Given the description of an element on the screen output the (x, y) to click on. 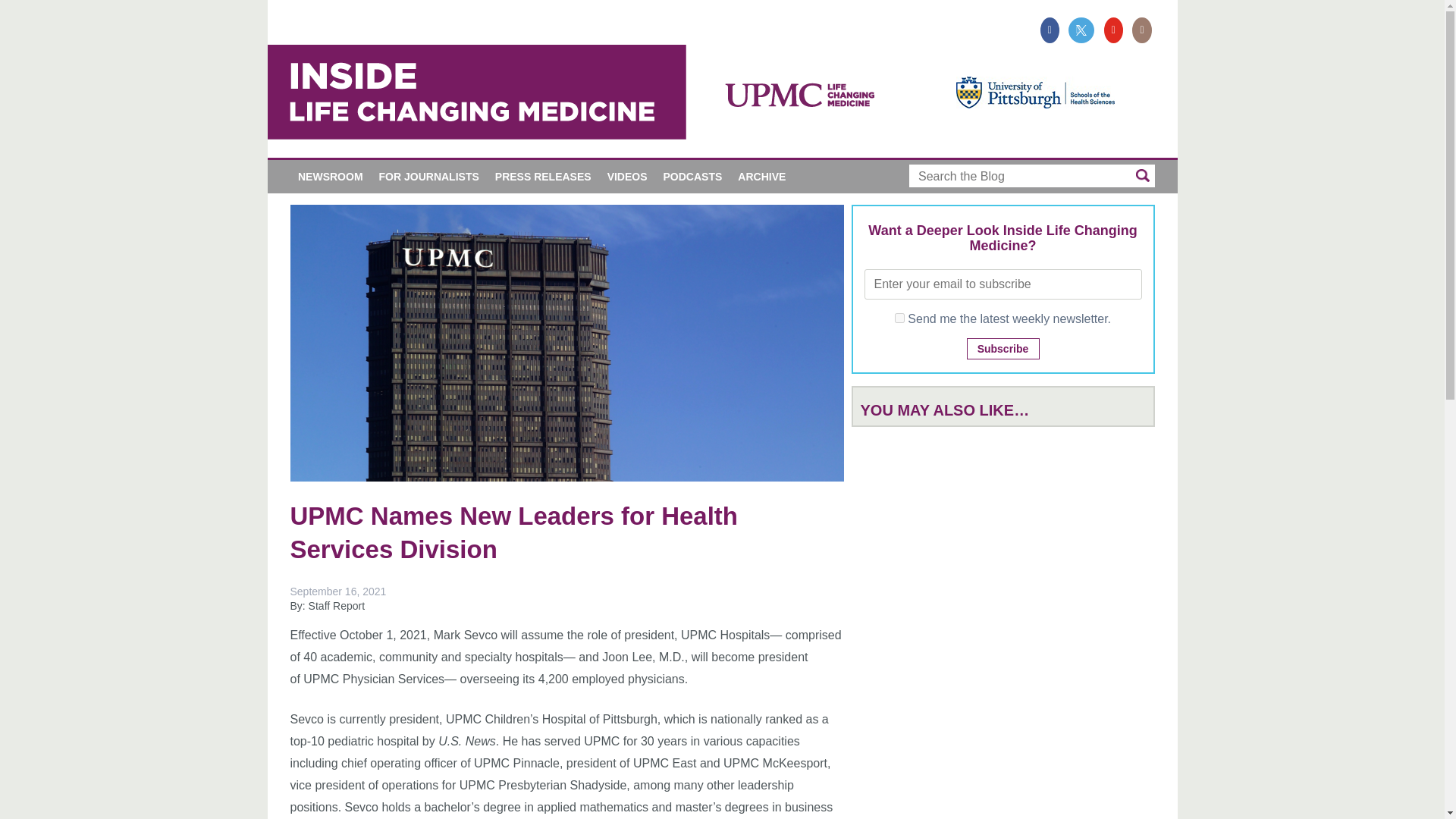
PRESS RELEASES (542, 176)
Subscribe (1002, 348)
on (899, 317)
NEWSROOM (330, 176)
Subscribe (1002, 348)
FOR JOURNALISTS (428, 176)
ARCHIVE (761, 176)
VIDEOS (626, 176)
PODCASTS (692, 176)
